Given the description of an element on the screen output the (x, y) to click on. 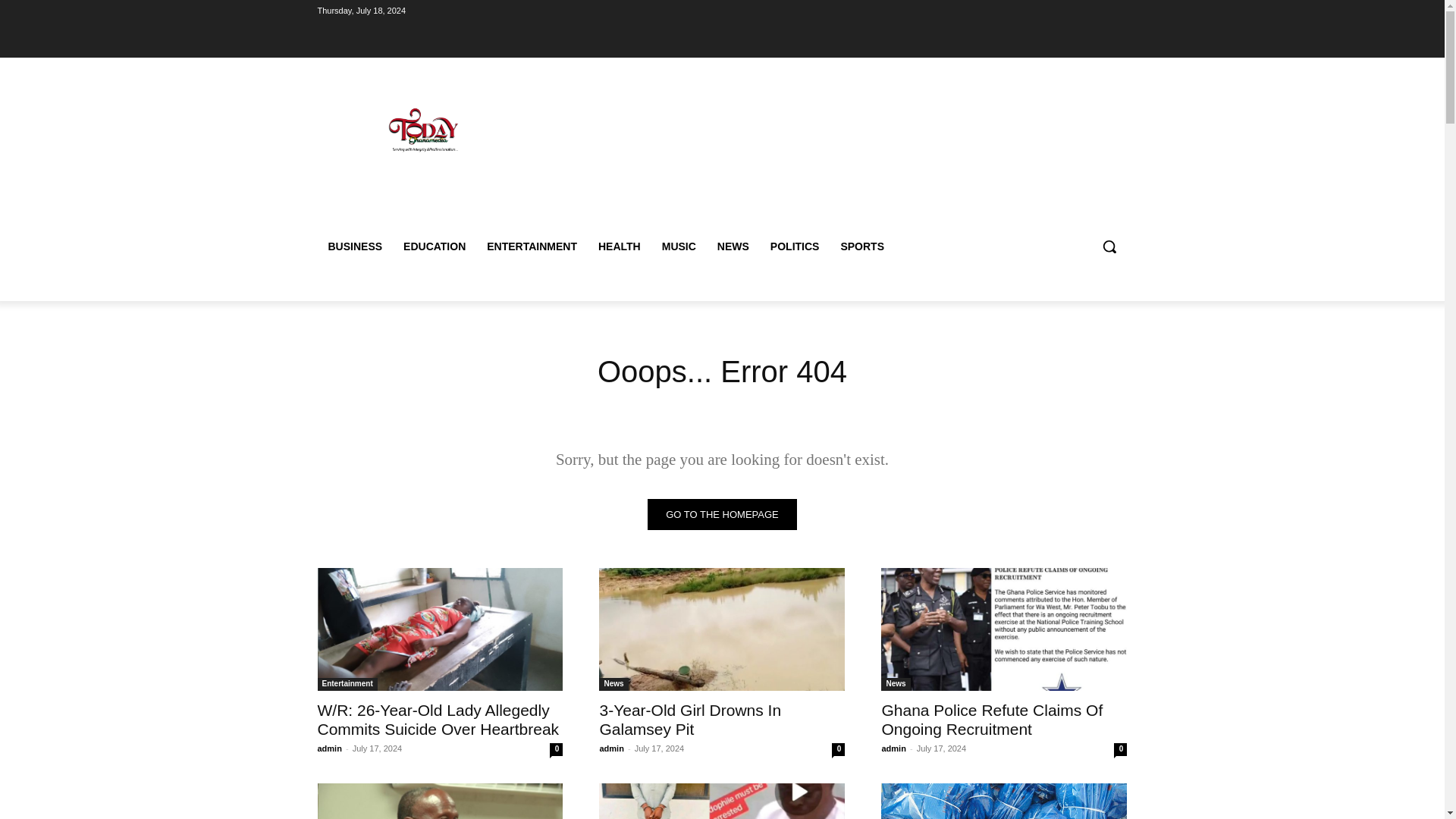
SPORTS (862, 246)
EDUCATION (434, 246)
MUSIC (678, 246)
0 (556, 748)
HEALTH (619, 246)
Ghana Police Refute Claims Of Ongoing Recruitment (991, 719)
News (895, 684)
GO TO THE HOMEPAGE (721, 513)
admin (892, 747)
Ghana Police Refute Claims Of Ongoing Recruitment (991, 719)
3-Year-Old Girl Drowns In Galamsey Pit (721, 629)
Entertainment (347, 684)
ENTERTAINMENT (532, 246)
Go to the homepage (721, 513)
News (612, 684)
